Given the description of an element on the screen output the (x, y) to click on. 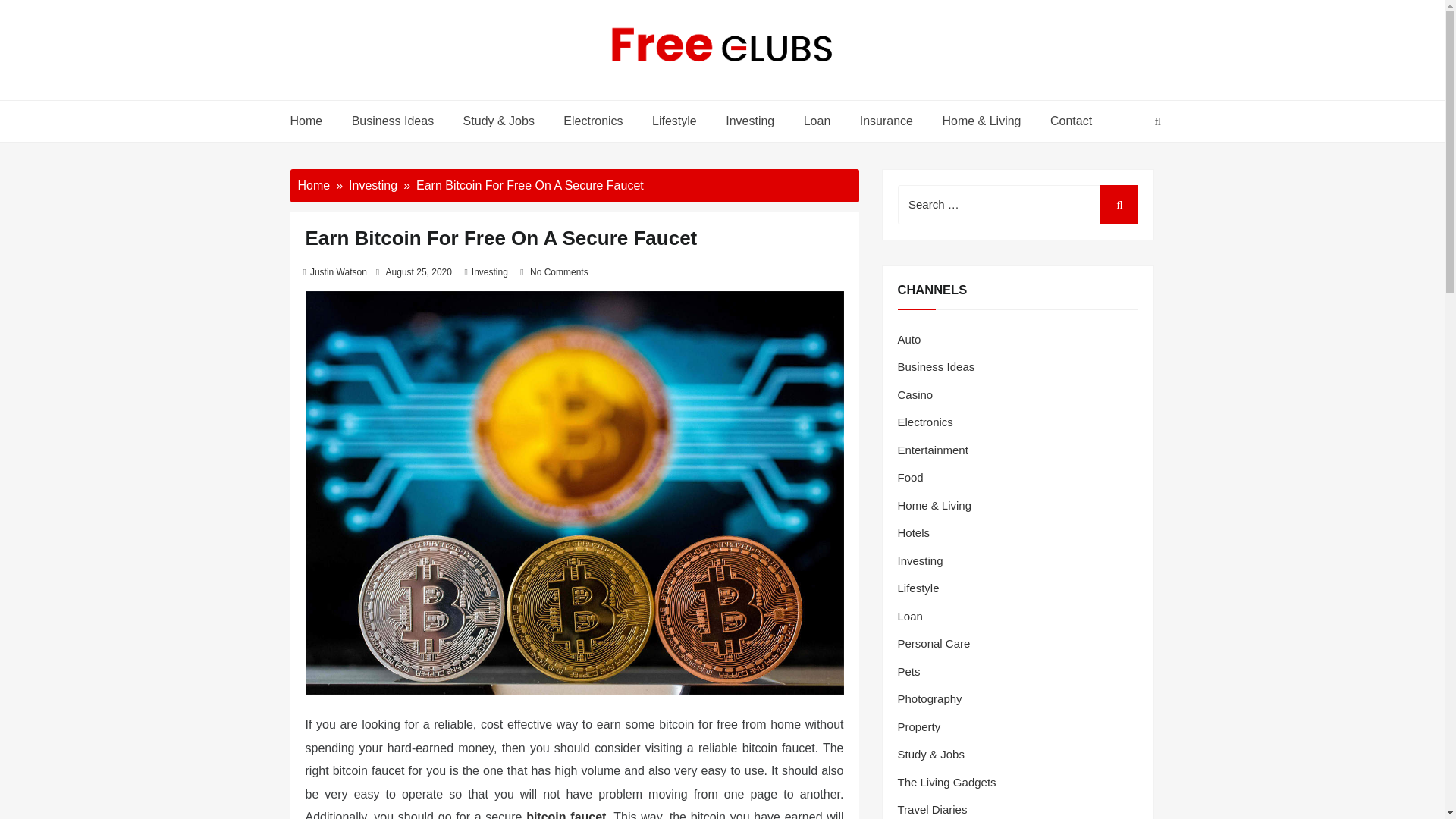
Business Ideas (392, 120)
Lifestyle (674, 120)
Home (311, 120)
Insurance (886, 120)
No Comments (558, 271)
Contact (1067, 120)
Justin Watson (338, 271)
August 25, 2020 (418, 271)
Loan (817, 120)
bitcoin faucet (565, 814)
